Given the description of an element on the screen output the (x, y) to click on. 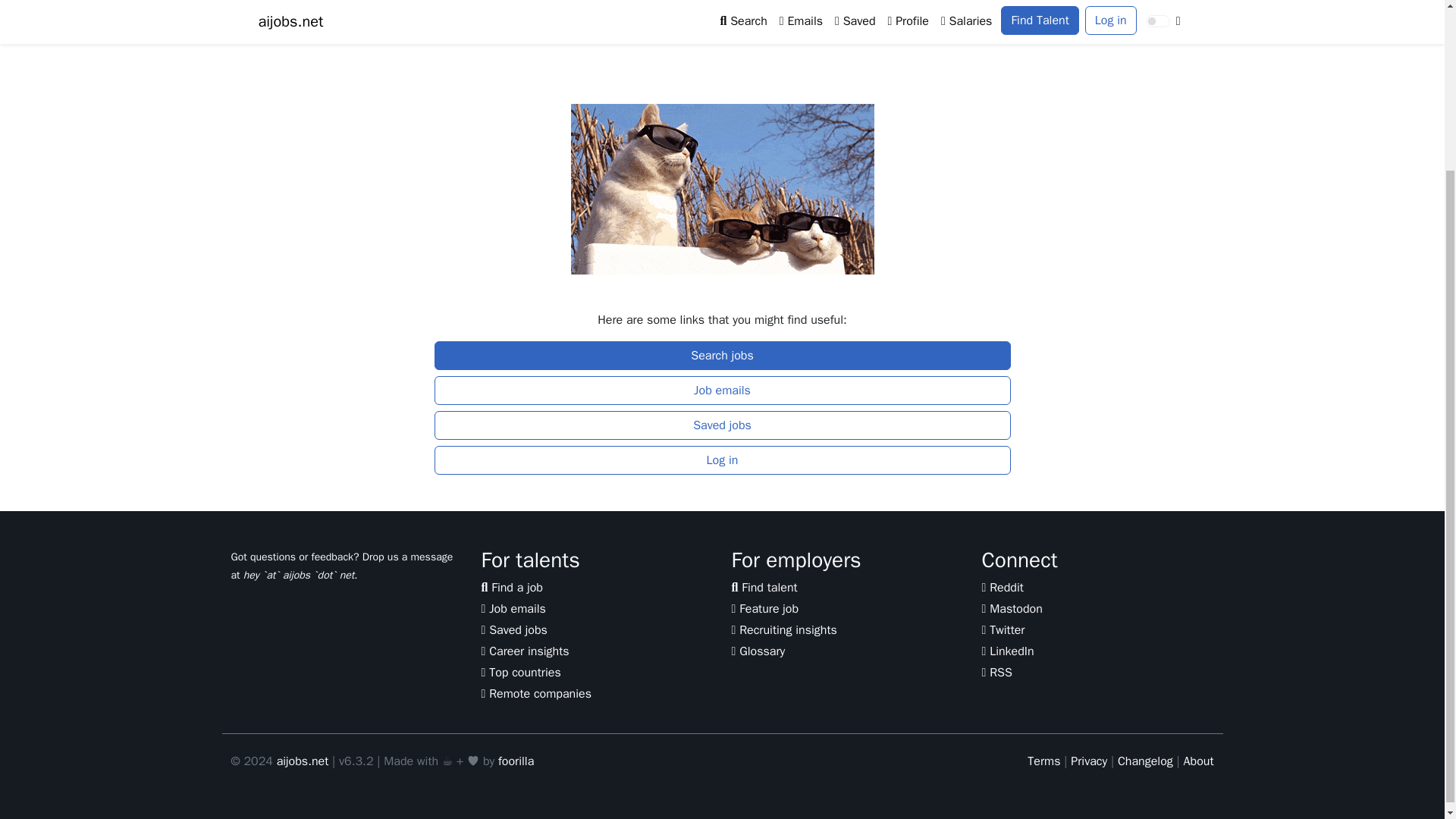
Reddit (1002, 587)
Career insights (524, 651)
Top countries (520, 672)
Job emails (721, 389)
RSS (996, 672)
Glossary (757, 651)
LinkedIn (1007, 651)
Saved jobs (721, 425)
Log in (721, 460)
Search jobs (721, 355)
Twitter (1003, 630)
aijobs.net (302, 761)
Recruiting insights (782, 630)
Terms (1043, 761)
Privacy (1088, 761)
